Given the description of an element on the screen output the (x, y) to click on. 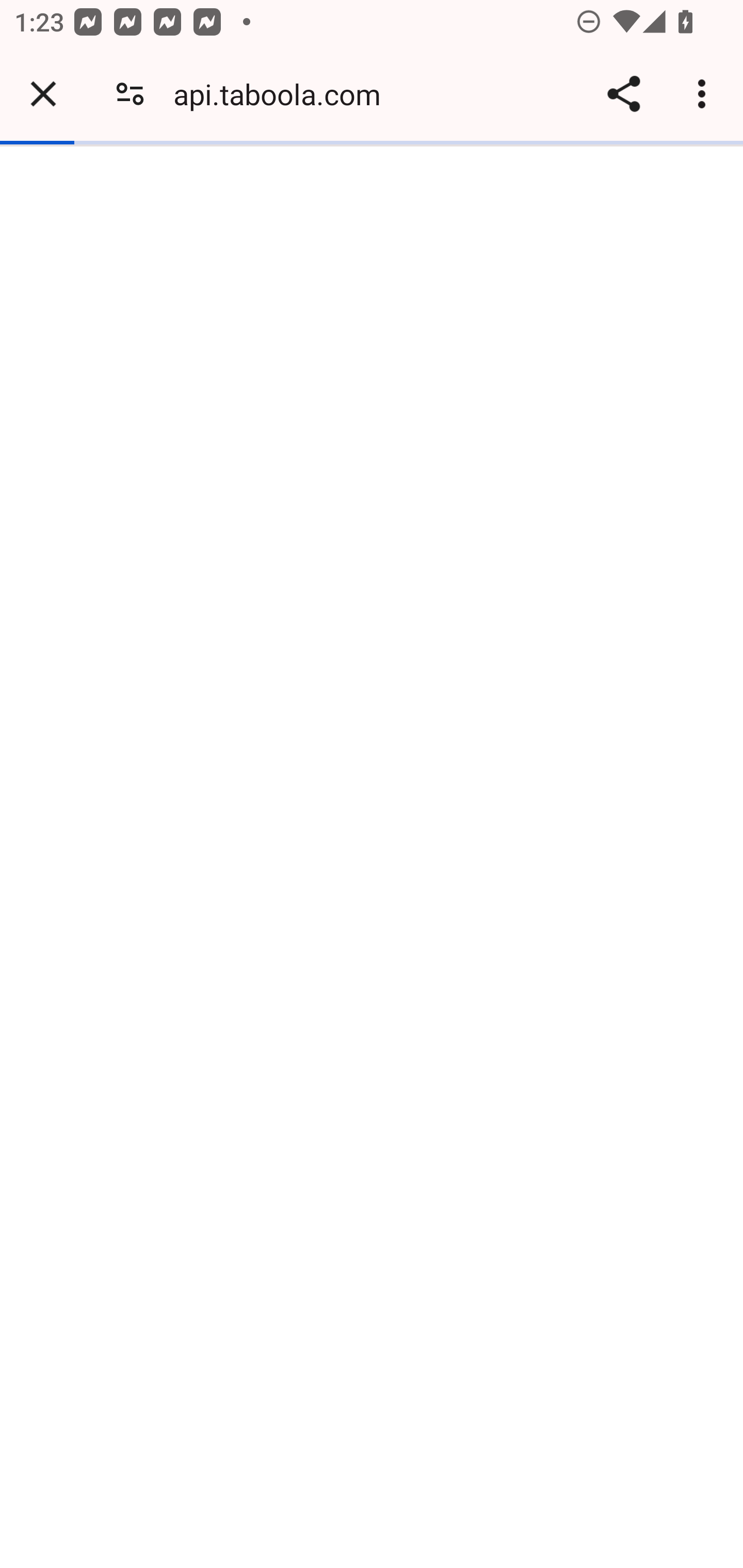
Close tab (43, 93)
Share (623, 93)
Customize and control Google Chrome (705, 93)
Connection is secure (129, 93)
api.taboola.com (284, 93)
